Given the description of an element on the screen output the (x, y) to click on. 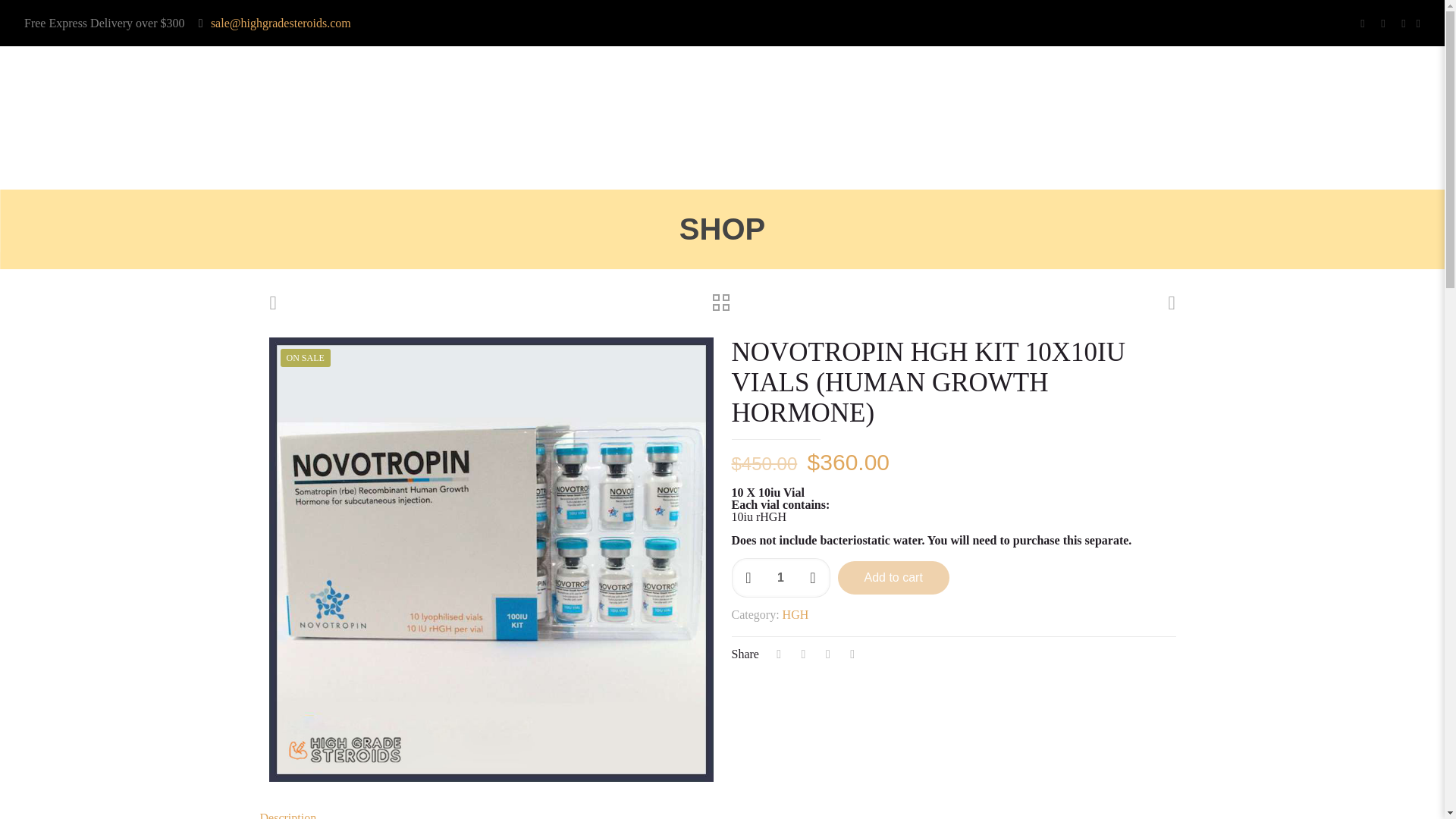
Description (287, 815)
Pinterest (1383, 23)
Add to cart (893, 577)
Instagram (1404, 23)
1 (779, 577)
Facebook (1363, 23)
HGH (796, 614)
